Given the description of an element on the screen output the (x, y) to click on. 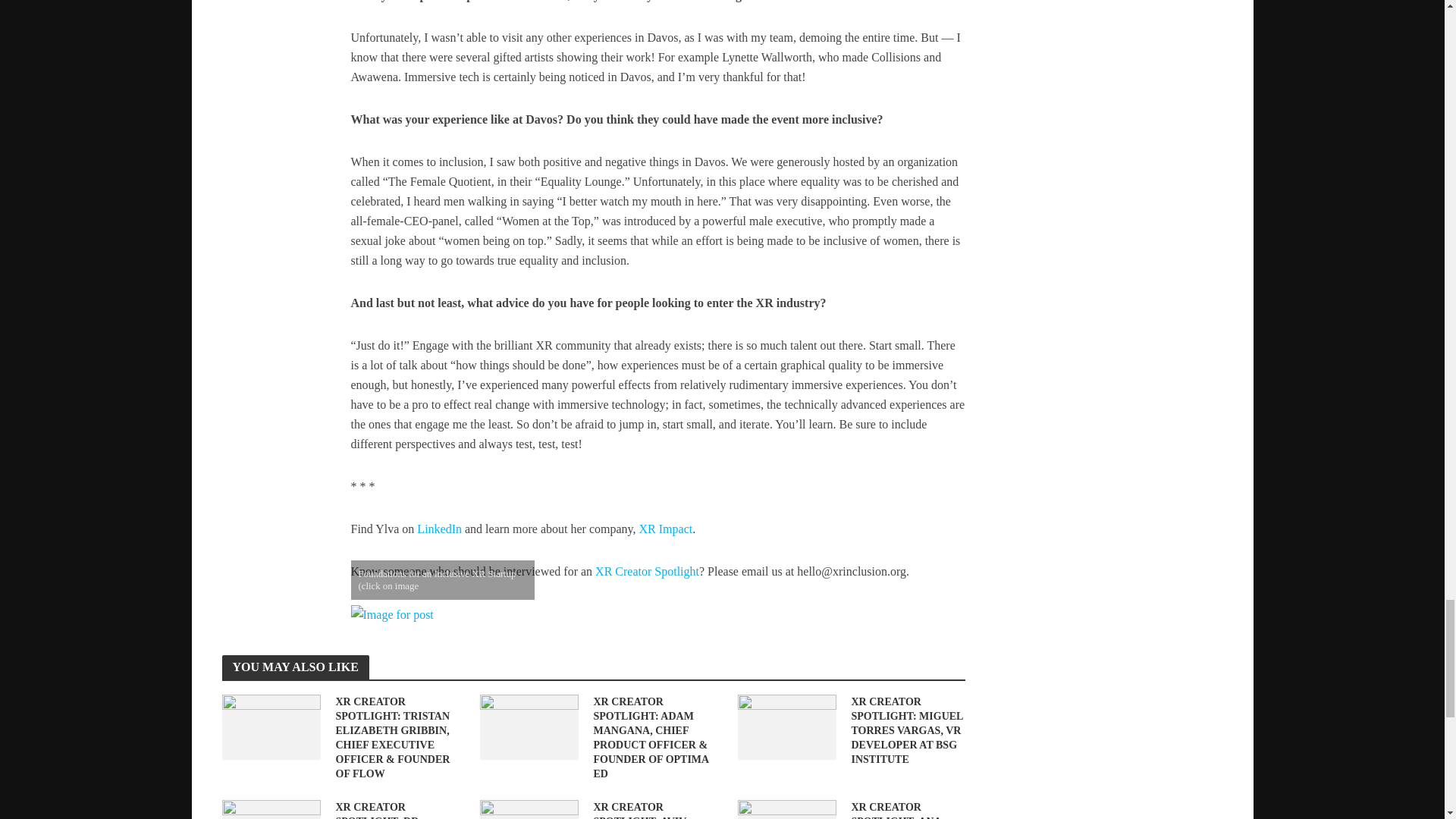
XR Creator Spotlight (646, 572)
XR Impact (666, 530)
LinkedIn (438, 530)
